Given the description of an element on the screen output the (x, y) to click on. 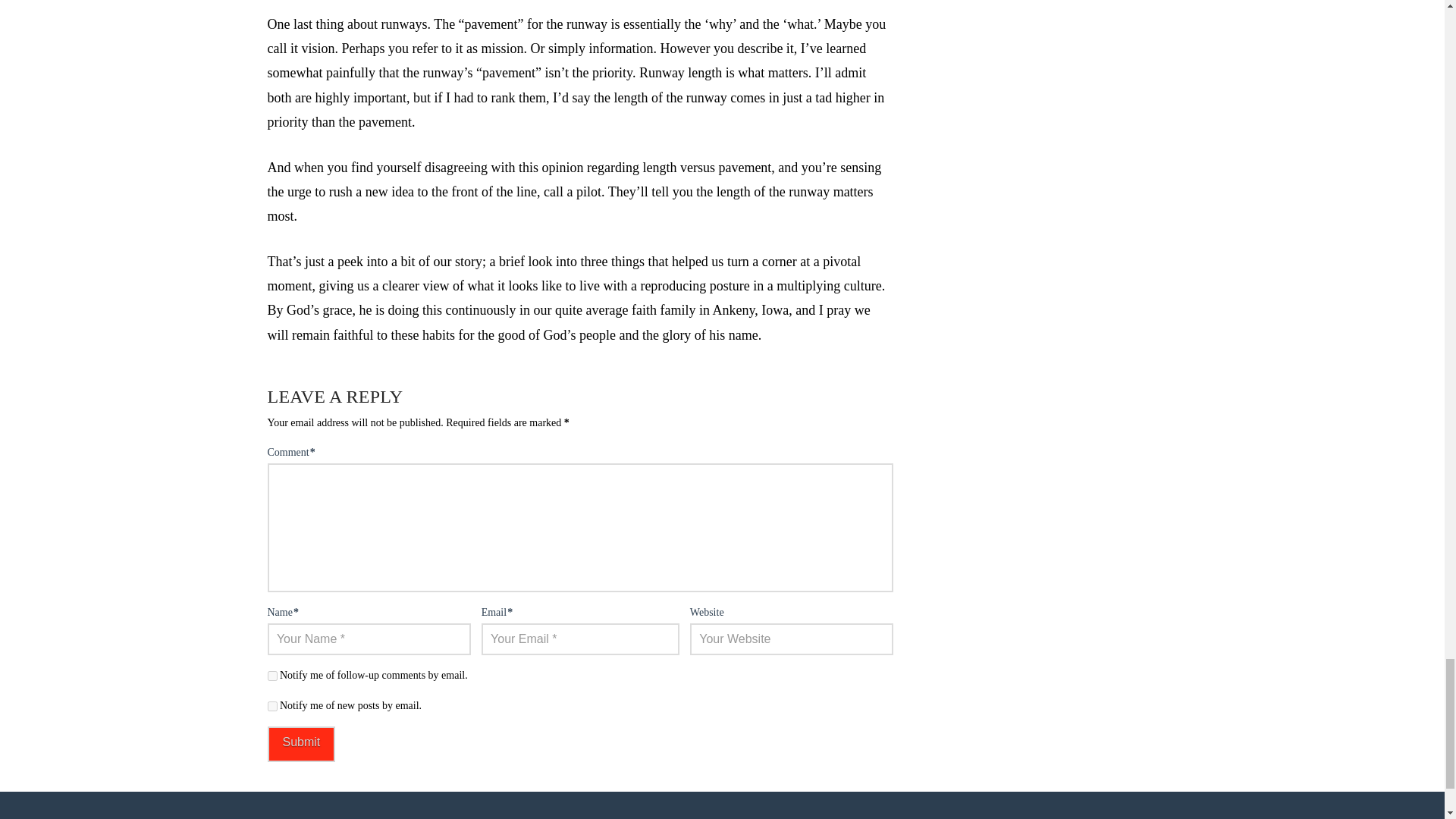
subscribe (271, 675)
subscribe (271, 706)
Submit (300, 744)
Submit (300, 744)
